Given the description of an element on the screen output the (x, y) to click on. 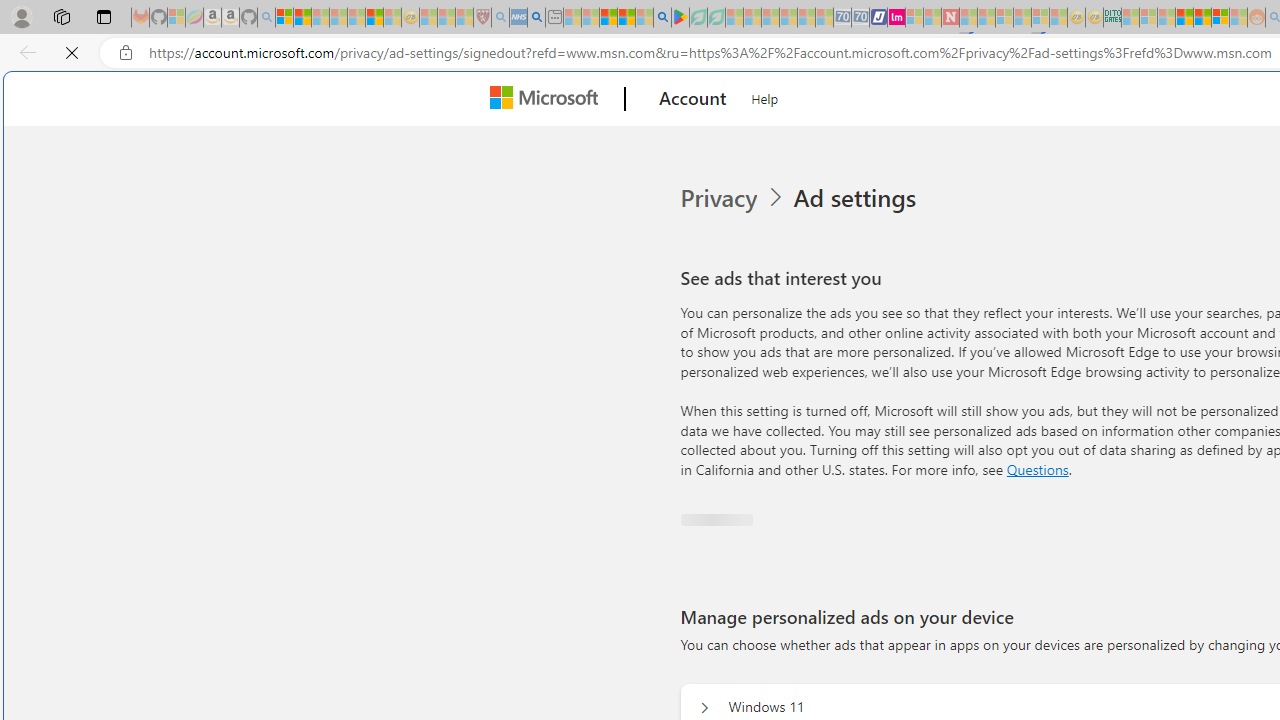
DITOGAMES AG Imprint (1112, 17)
Bluey: Let's Play! - Apps on Google Play (680, 17)
Robert H. Shmerling, MD - Harvard Health - Sleeping (482, 17)
Manage personalized ads on your device Windows 11 (704, 702)
Ad settings toggle (699, 501)
Help (765, 96)
